Given the description of an element on the screen output the (x, y) to click on. 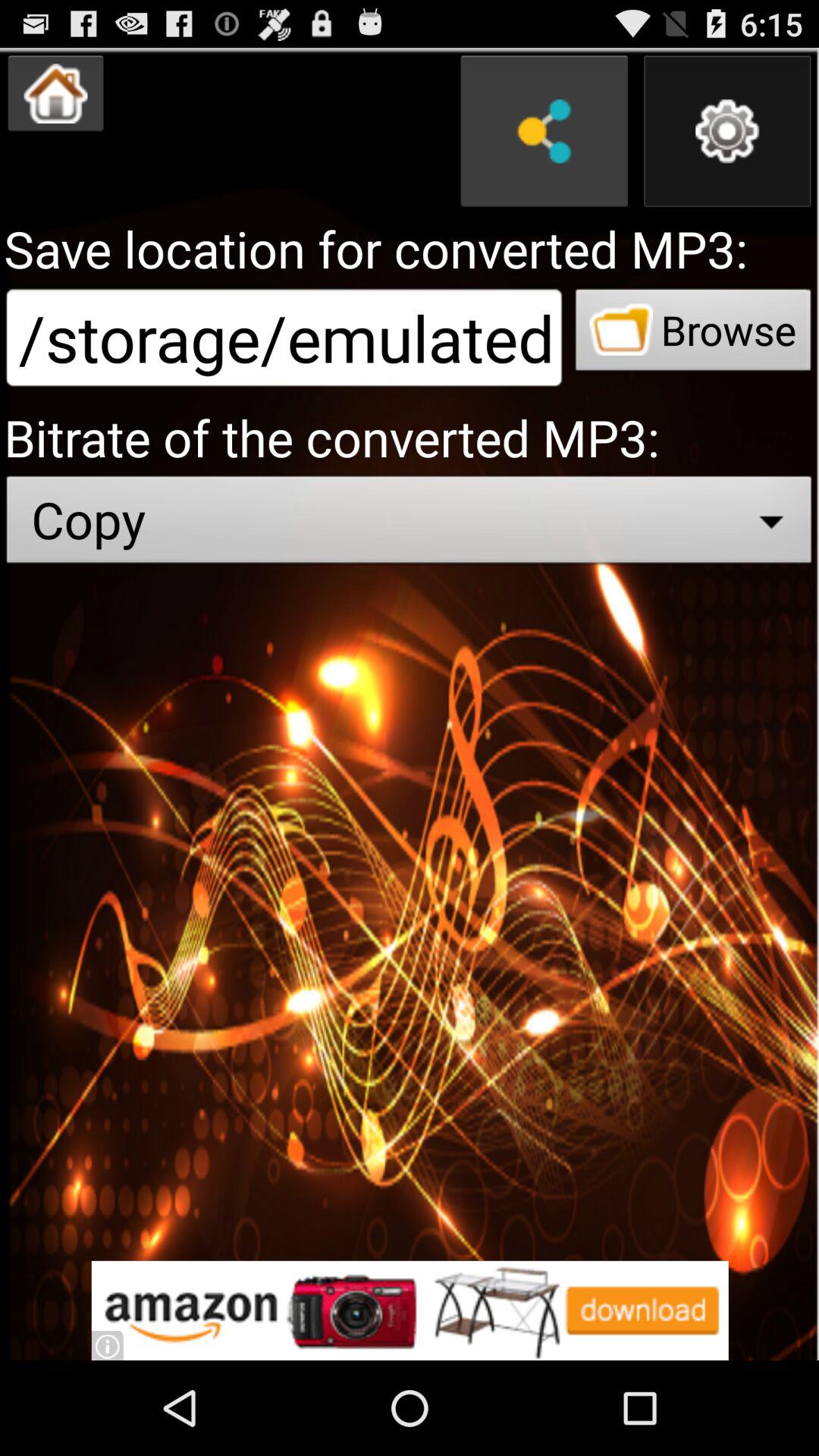
settings (727, 130)
